Given the description of an element on the screen output the (x, y) to click on. 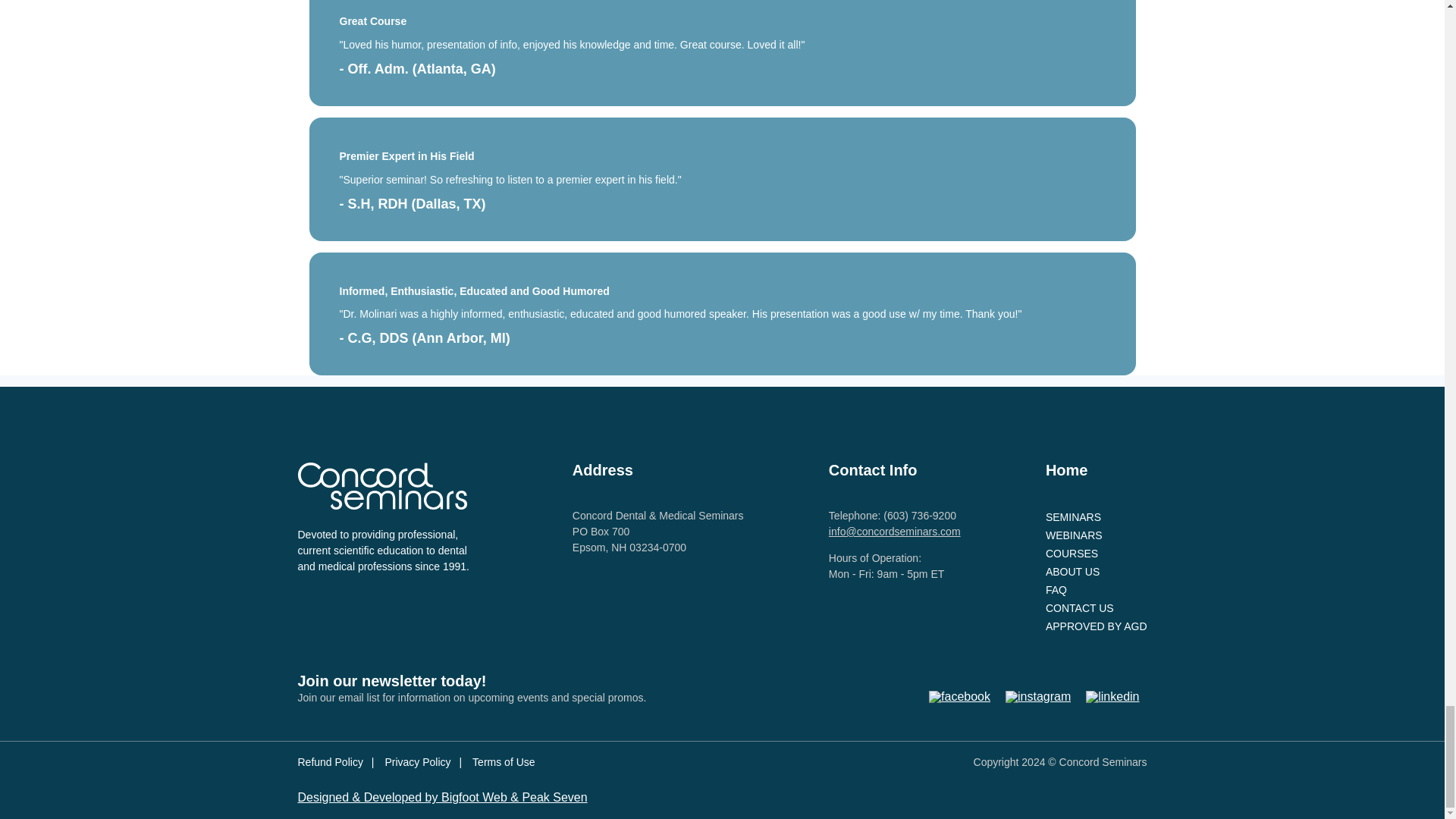
FAQ (1096, 589)
CONTACT US (1096, 607)
COURSES (1096, 553)
WEBINARS (1096, 535)
Terms of Use (502, 761)
Home (1066, 469)
SEMINARS (1096, 516)
APPROVED BY AGD (1096, 626)
ABOUT US (1096, 571)
Privacy Policy (422, 761)
